Given the description of an element on the screen output the (x, y) to click on. 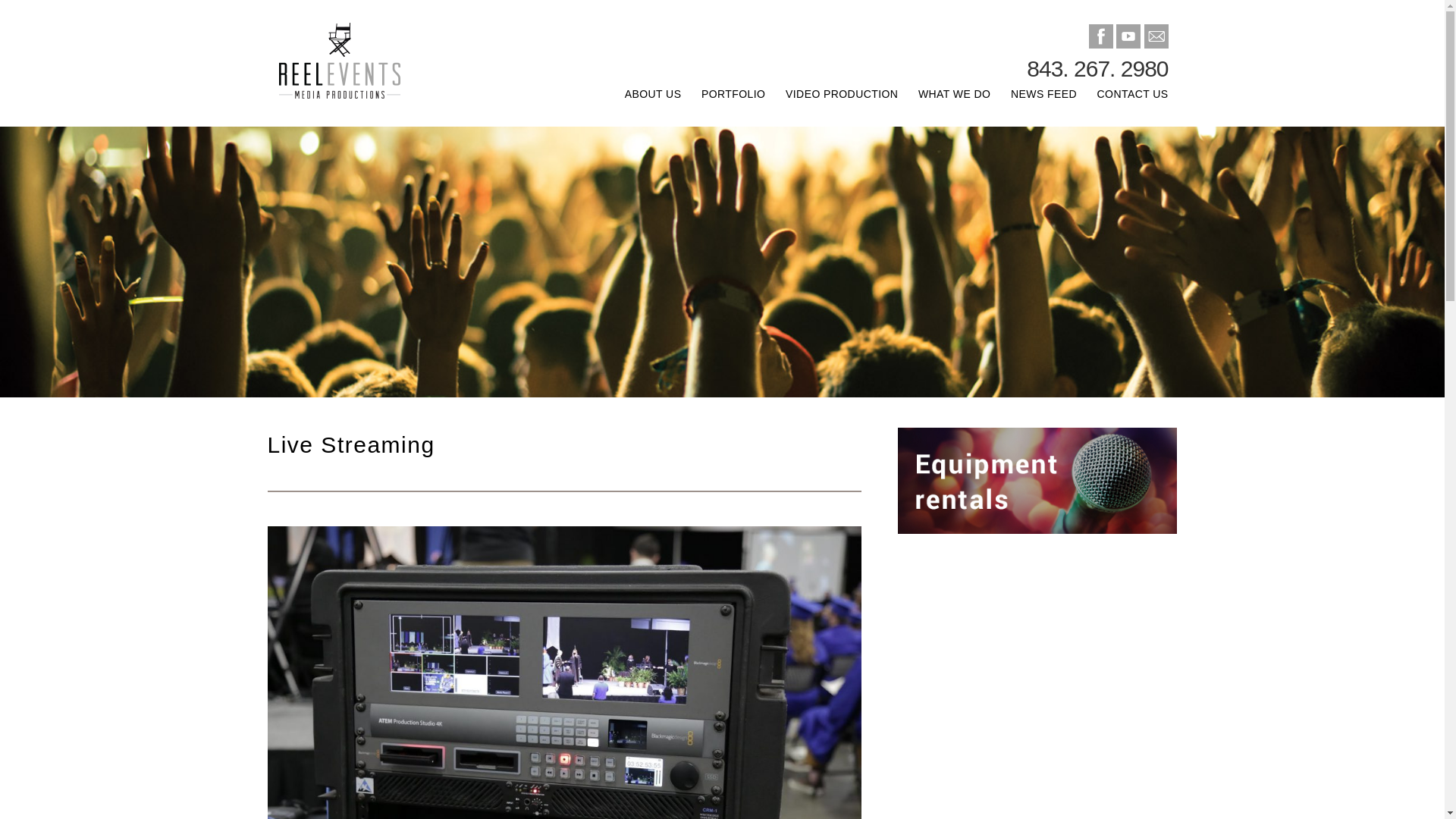
843. 267. 2980 (1096, 68)
reel-events (380, 63)
ABOUT US (642, 101)
